Given the description of an element on the screen output the (x, y) to click on. 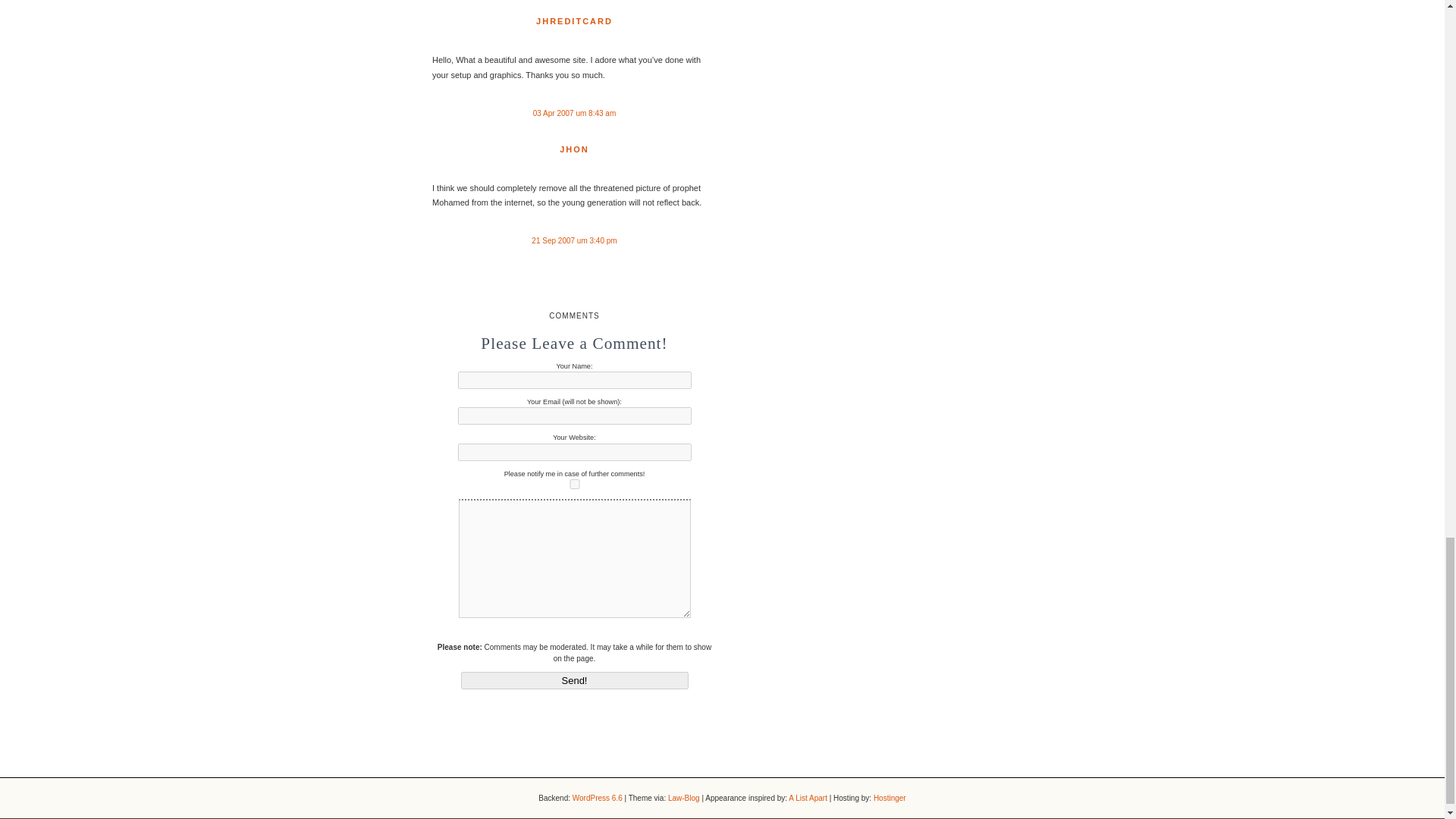
subscribe (574, 483)
Send! (574, 680)
Send! (574, 680)
03 Apr 2007 um 8:43 am (573, 112)
21 Sep 2007 um 3:40 pm (573, 240)
